Given the description of an element on the screen output the (x, y) to click on. 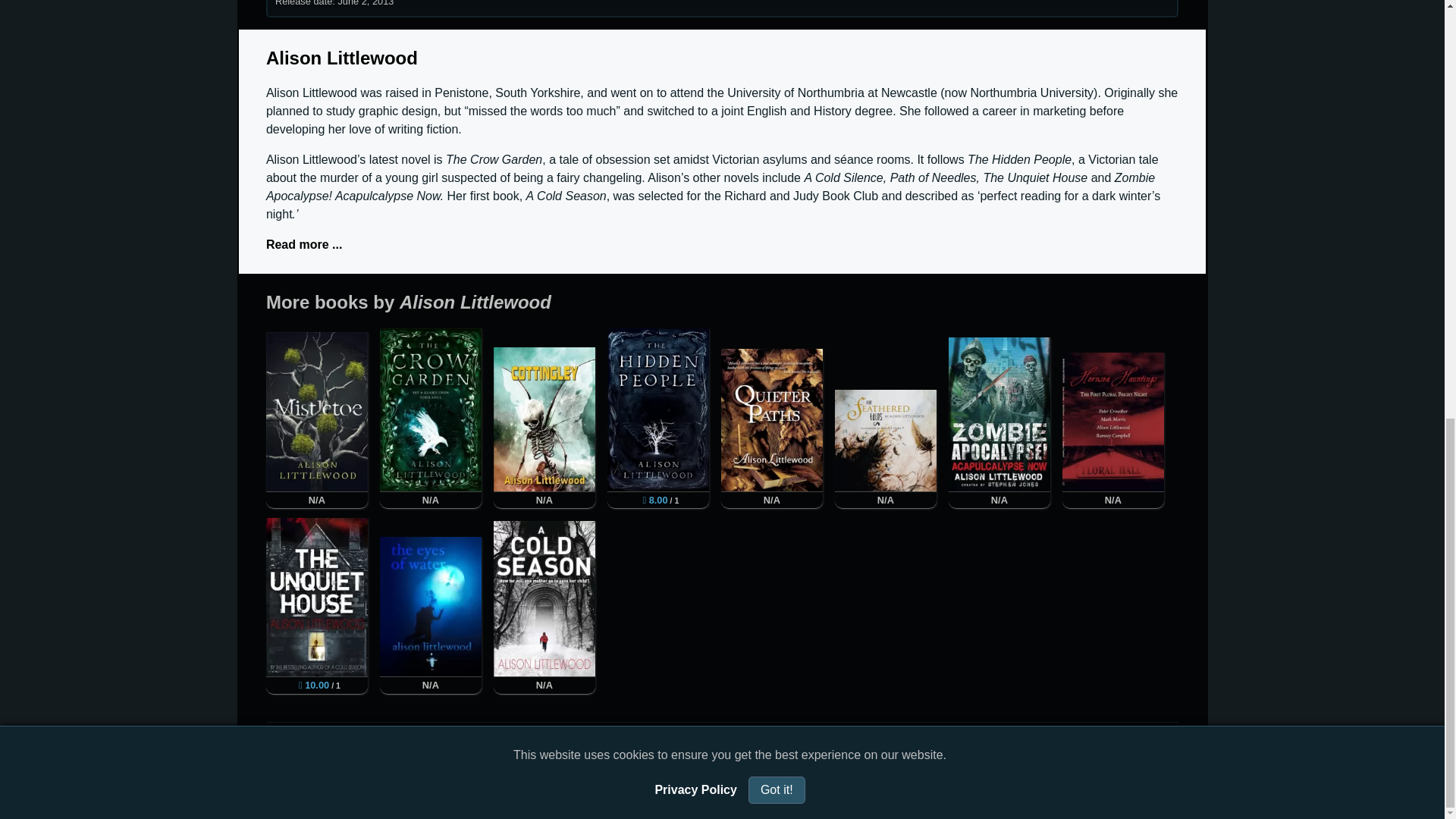
The Hidden People by Alison Littlewood (658, 409)
Cottingley by Alison Littlewood (544, 419)
Quieter Paths by Alison Littlewood (771, 419)
Mistletoe by Alison Littlewood (317, 411)
Five Feathered Tales by Alison Littlewood (885, 440)
A Cold Season by Alison Littlewood (544, 598)
Alison Littlewood (341, 57)
The Eyes of Water by Alison Littlewood (430, 606)
The Unquiet House by Alison Littlewood (317, 596)
The Crow Garden by Alison Littlewood (430, 409)
